Given the description of an element on the screen output the (x, y) to click on. 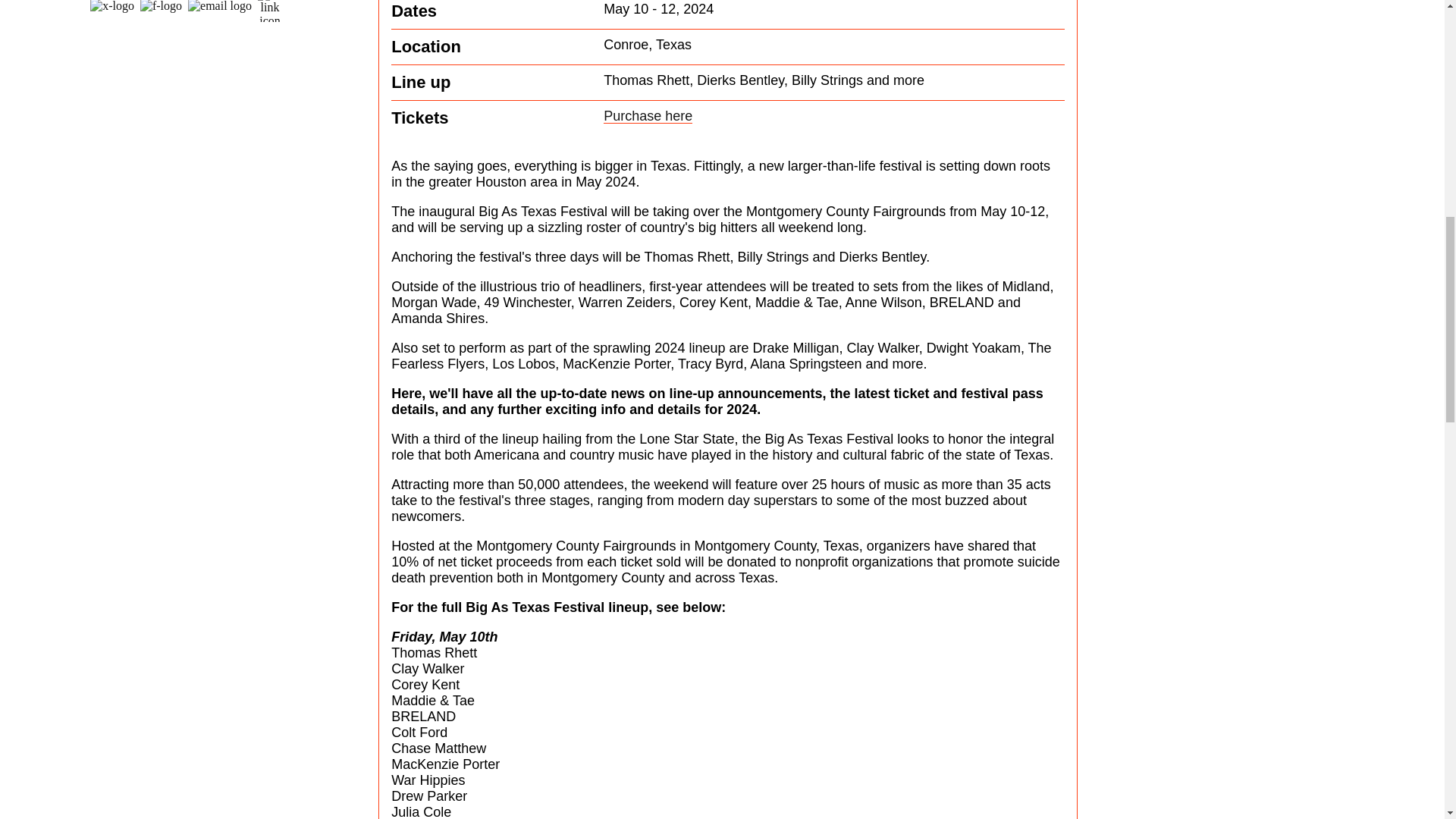
Purchase here (648, 116)
